Given the description of an element on the screen output the (x, y) to click on. 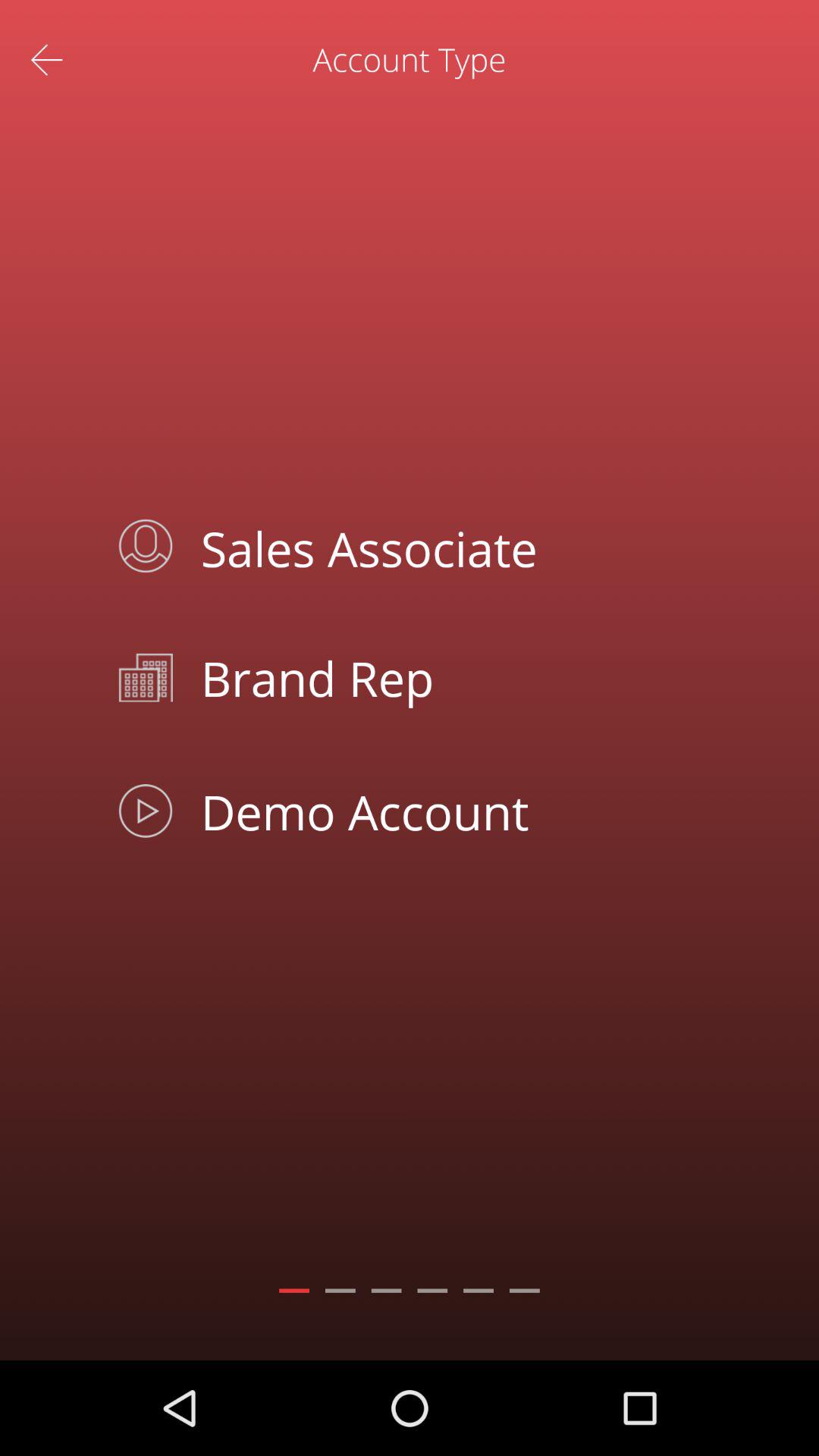
turn on the brand rep app (444, 677)
